Given the description of an element on the screen output the (x, y) to click on. 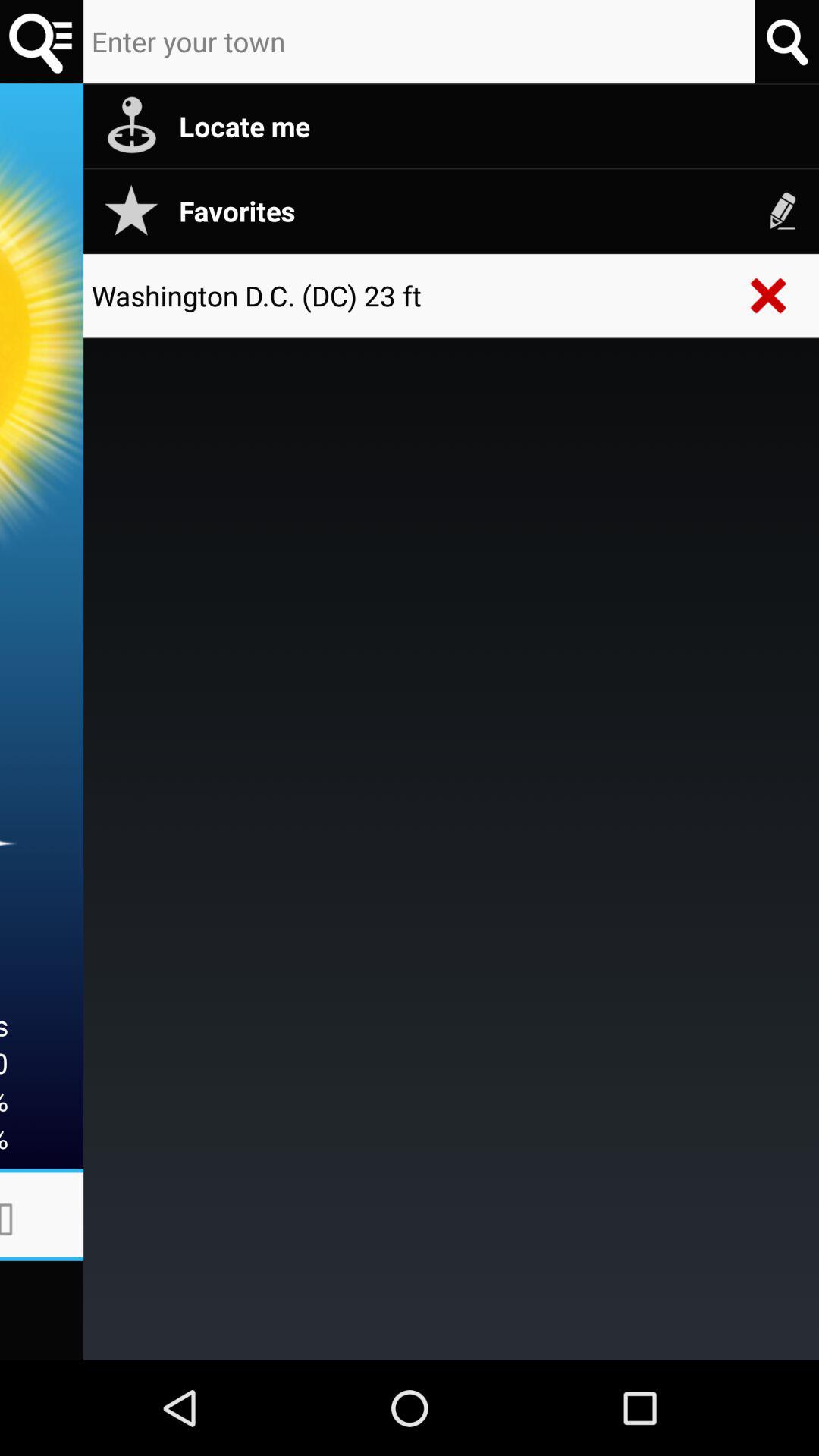
search option (787, 41)
